Given the description of an element on the screen output the (x, y) to click on. 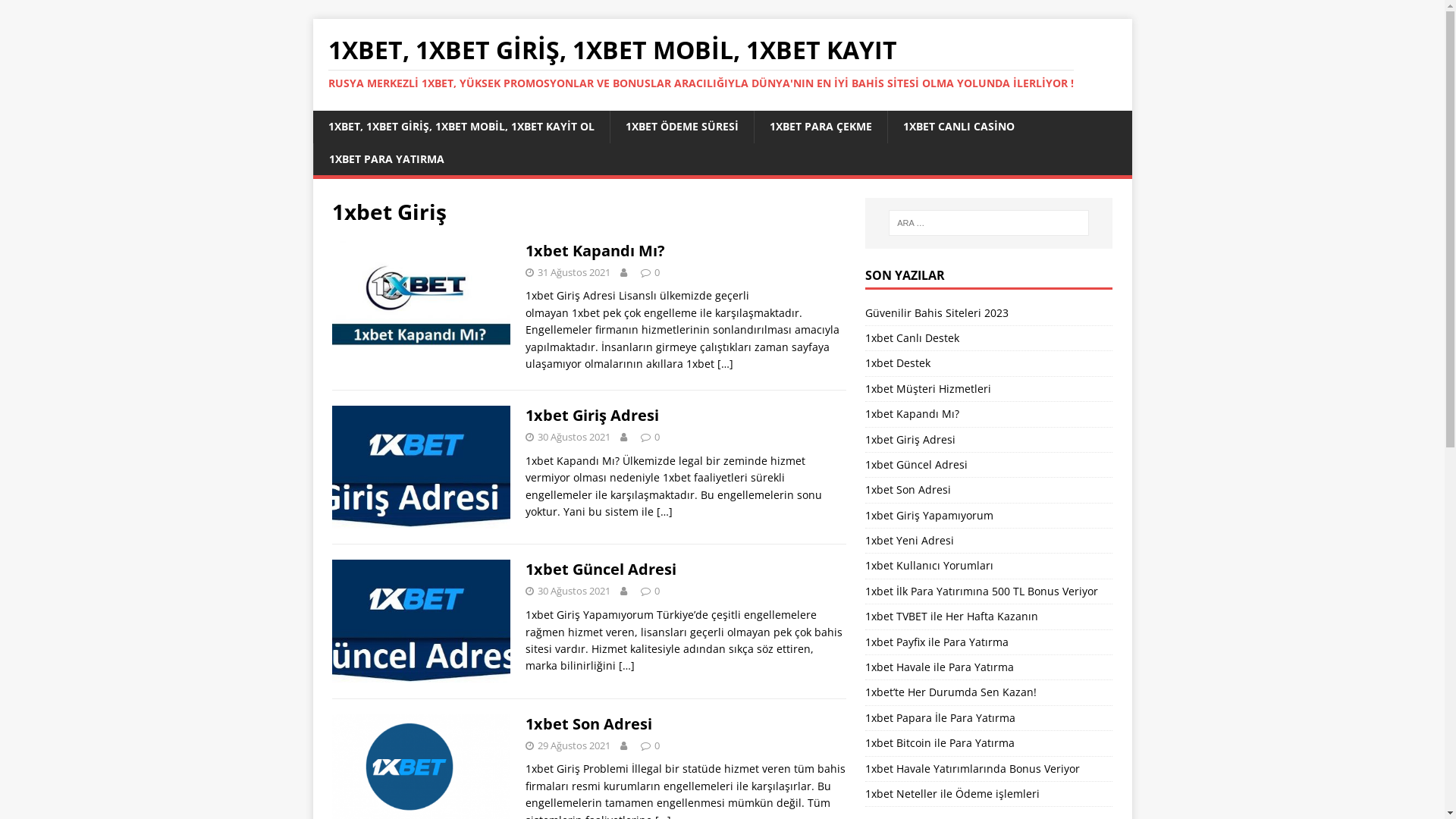
1xbet Son Adresi Element type: text (587, 723)
1XBET PARA YATIRMA Element type: text (385, 159)
1xbet Yeni Adresi Element type: text (909, 540)
0 Element type: text (655, 590)
Ara Element type: text (56, 11)
1xbet Destek Element type: text (897, 362)
0 Element type: text (655, 272)
1XBET CANLI CASINO Element type: text (958, 126)
0 Element type: text (655, 745)
0 Element type: text (655, 436)
1xbet Son Adresi Element type: text (907, 489)
